Given the description of an element on the screen output the (x, y) to click on. 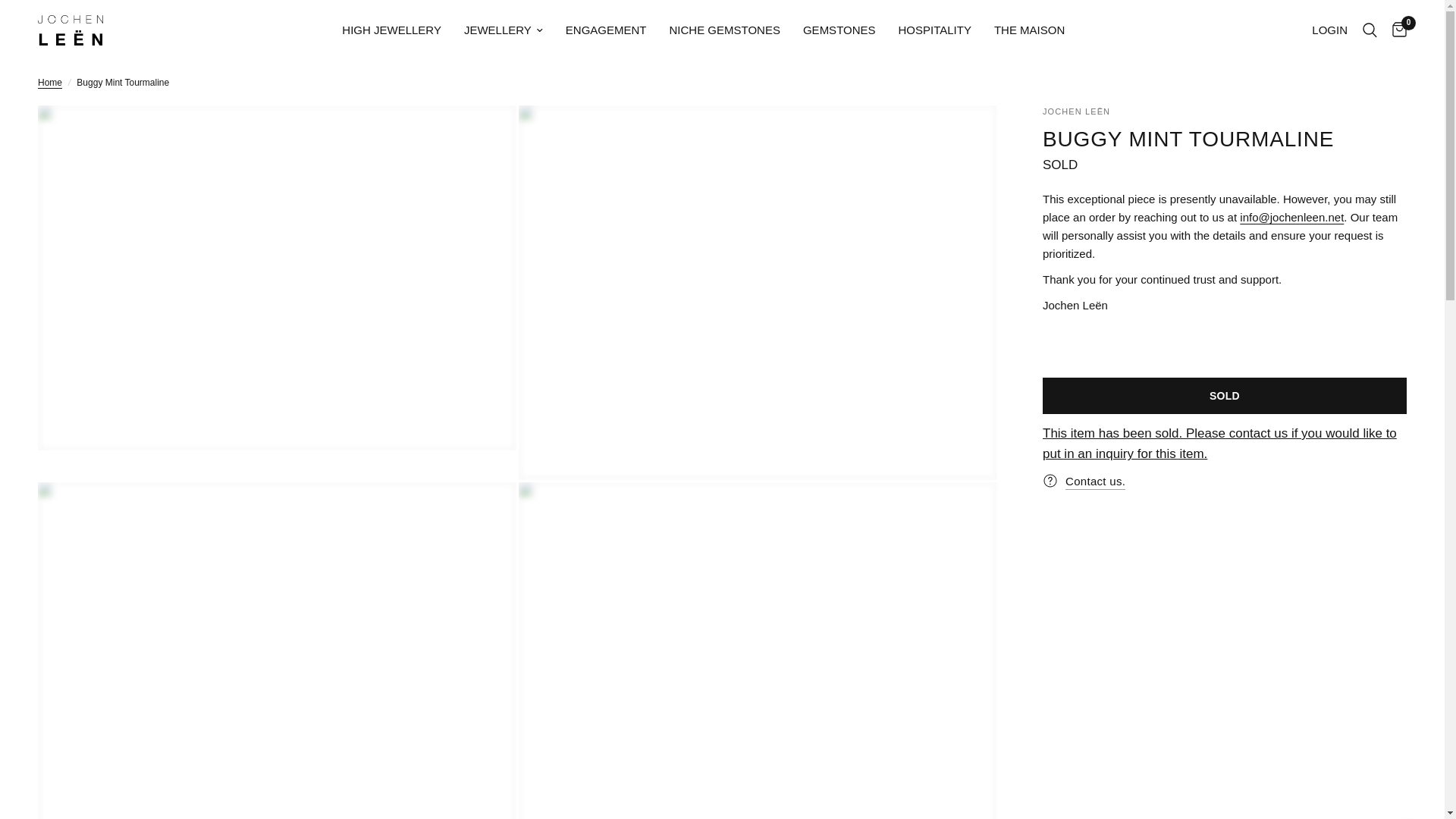
HOSPITALITY (934, 30)
SOLD (1224, 395)
JEWELLERY (503, 30)
SOLD (1059, 164)
NICHE GEMSTONES (724, 30)
HIGH JEWELLERY (391, 30)
HIGH JEWELLERY (391, 30)
Home (49, 83)
GEMSTONES (839, 30)
ENGAGEMENT (606, 30)
